Given the description of an element on the screen output the (x, y) to click on. 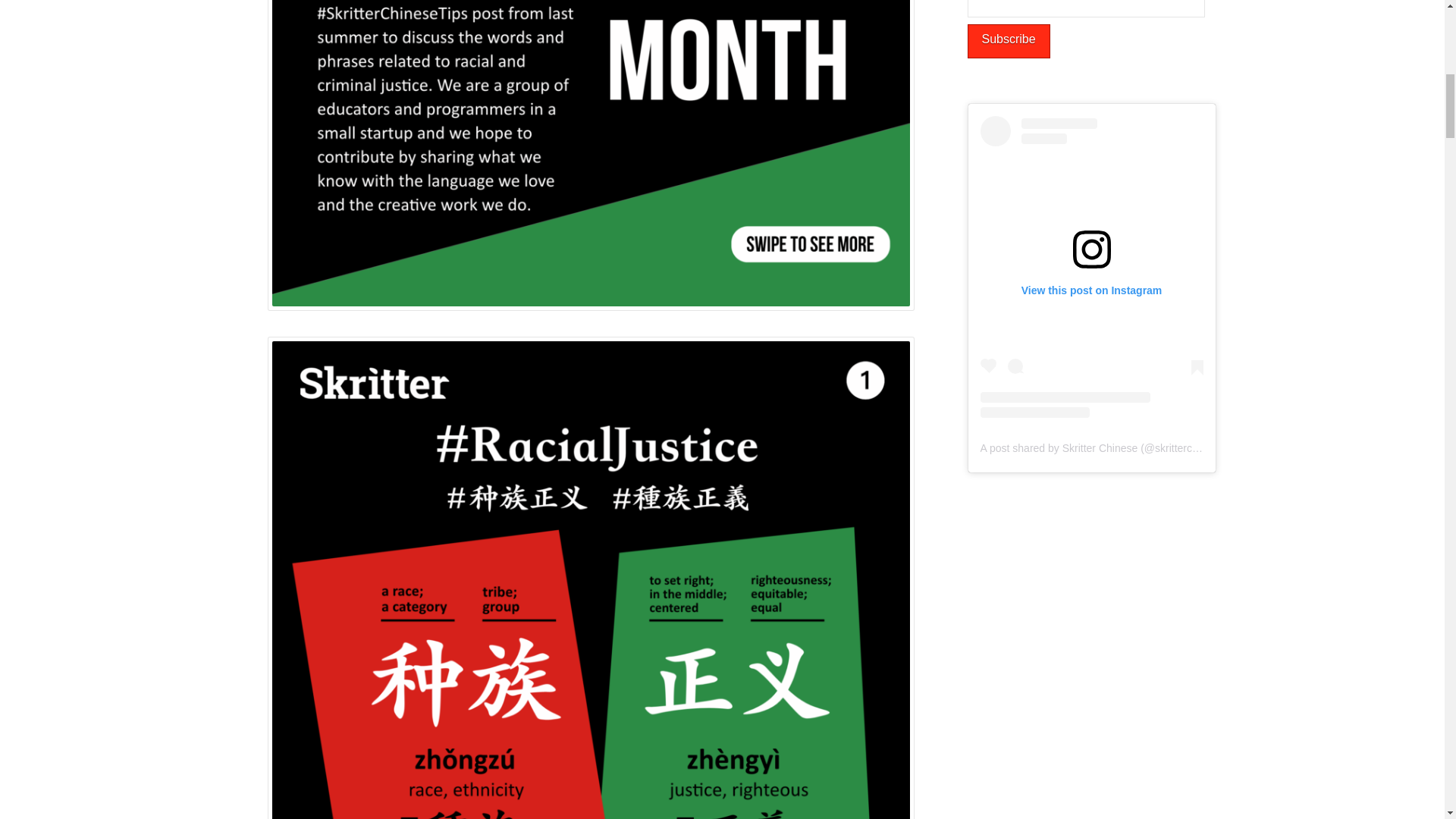
Subscribe (1008, 41)
